Given the description of an element on the screen output the (x, y) to click on. 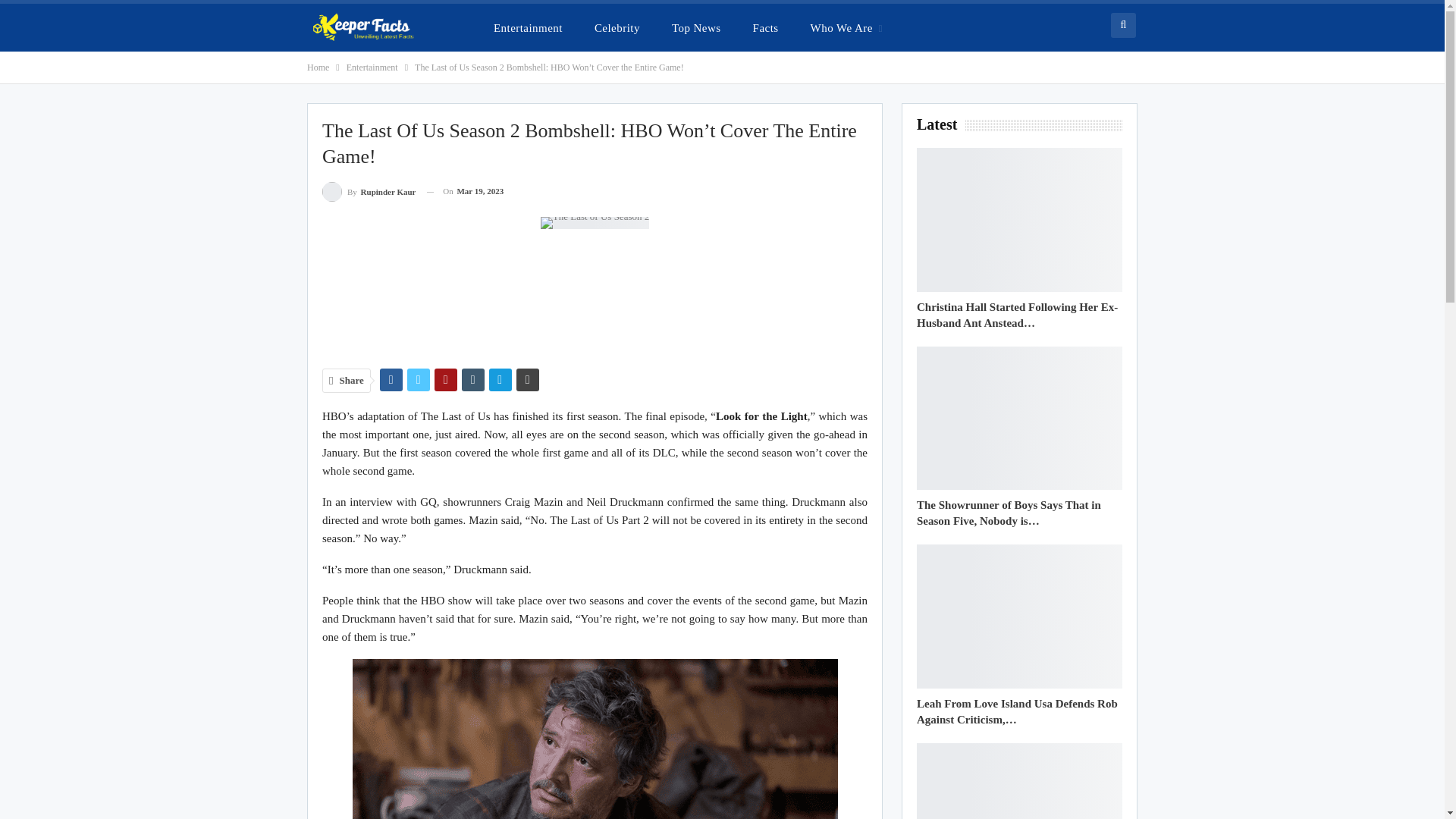
Celebrity (617, 27)
Home (318, 67)
Browse Author Articles (367, 190)
Facts (765, 27)
Top News (696, 27)
By Rupinder Kaur (367, 190)
Who We Are (846, 27)
Entertainment (528, 27)
Entertainment (371, 67)
